Given the description of an element on the screen output the (x, y) to click on. 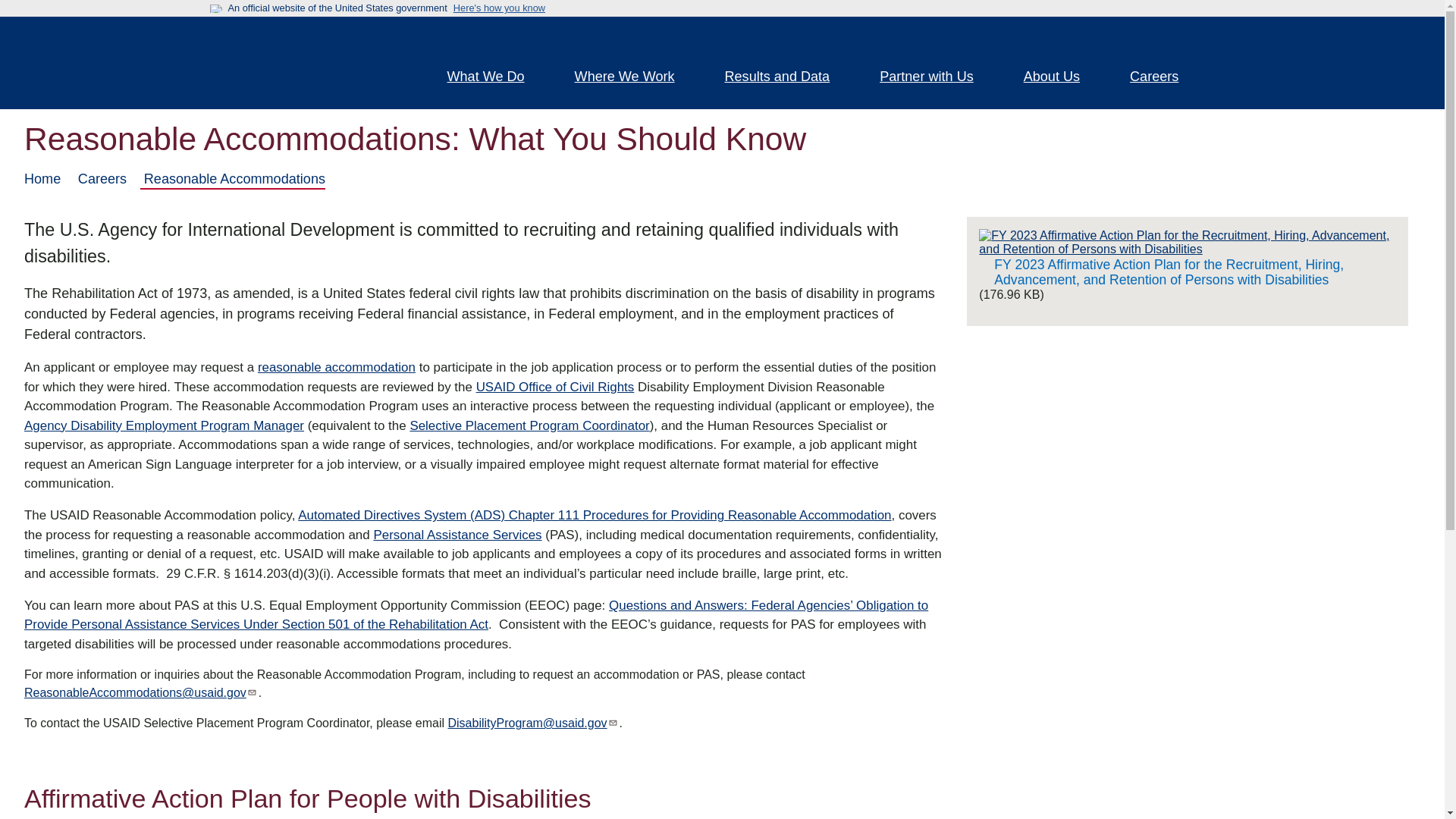
Agency Disability Employment Program Manager (164, 425)
reasonable accommodation (335, 367)
Careers (1162, 78)
Home (42, 178)
Home (304, 62)
USAID Office of Civil Rights (555, 386)
What We Do (493, 78)
Results and Data (786, 78)
